Given the description of an element on the screen output the (x, y) to click on. 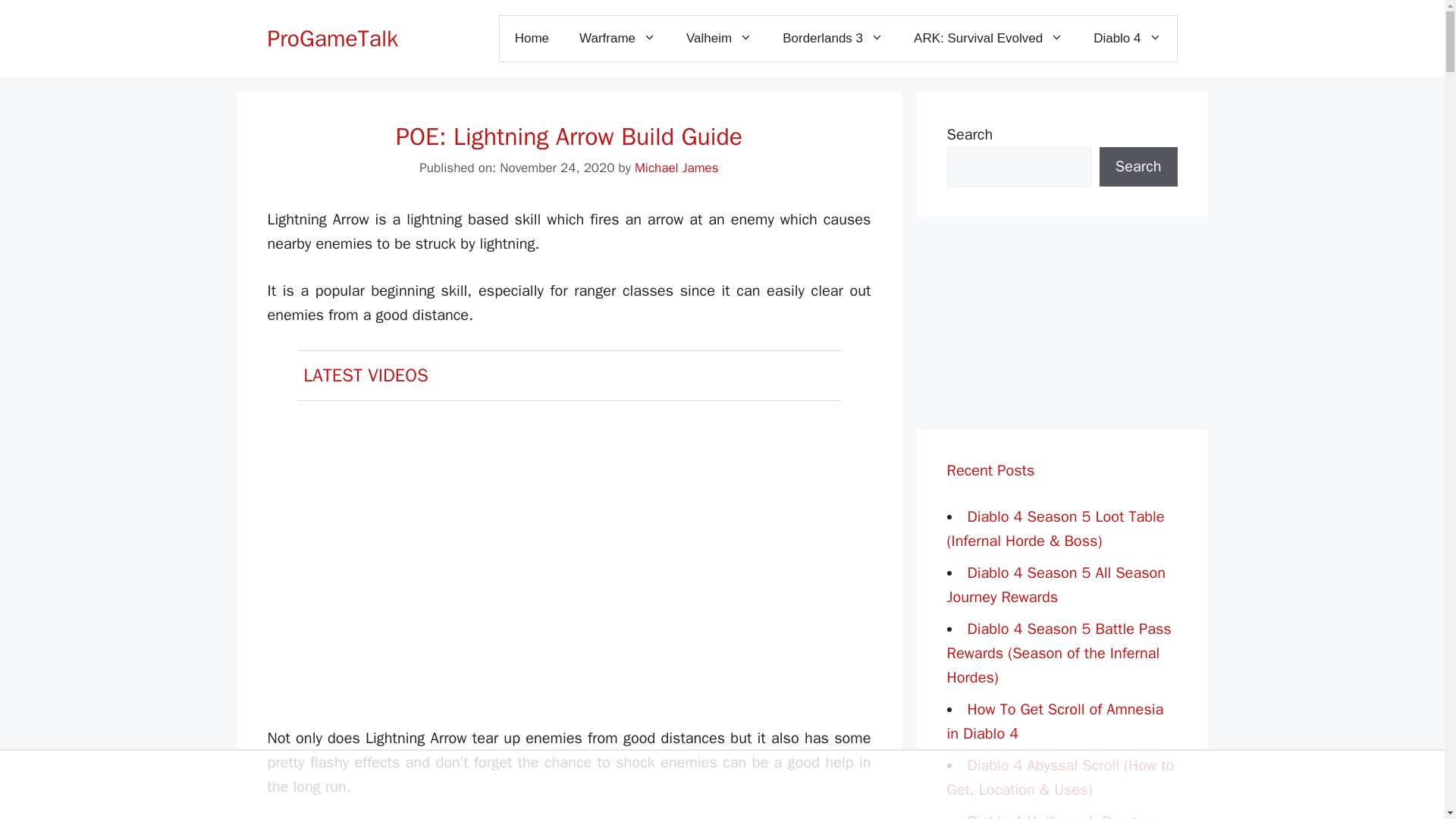
Home (531, 38)
View all posts by Michael James (676, 167)
ARK: Survival Evolved (988, 38)
Warframe (617, 38)
Diablo 4 (1127, 38)
Valheim (719, 38)
Borderlands 3 (832, 38)
ProGameTalk (331, 38)
